Given the description of an element on the screen output the (x, y) to click on. 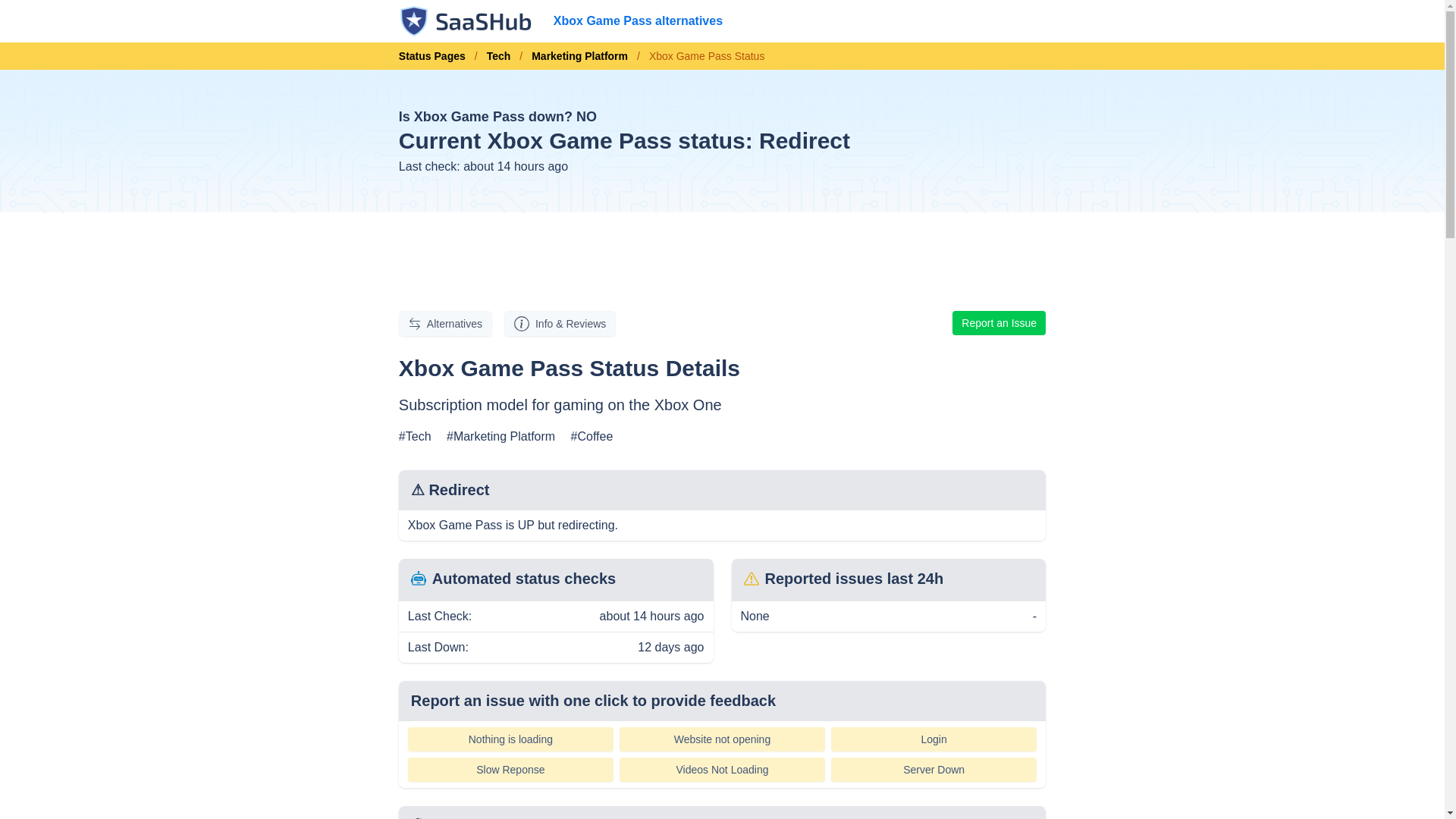
Server Down (933, 769)
Xbox Game Pass details and reviews (559, 323)
Tech (498, 55)
Nothing is loading (509, 739)
Status Pages (436, 55)
Marketing Platform (579, 55)
Alternatives (445, 323)
Website not opening (722, 739)
Xbox Game Pass alternatives (637, 21)
Videos Not Loading (722, 769)
